Given the description of an element on the screen output the (x, y) to click on. 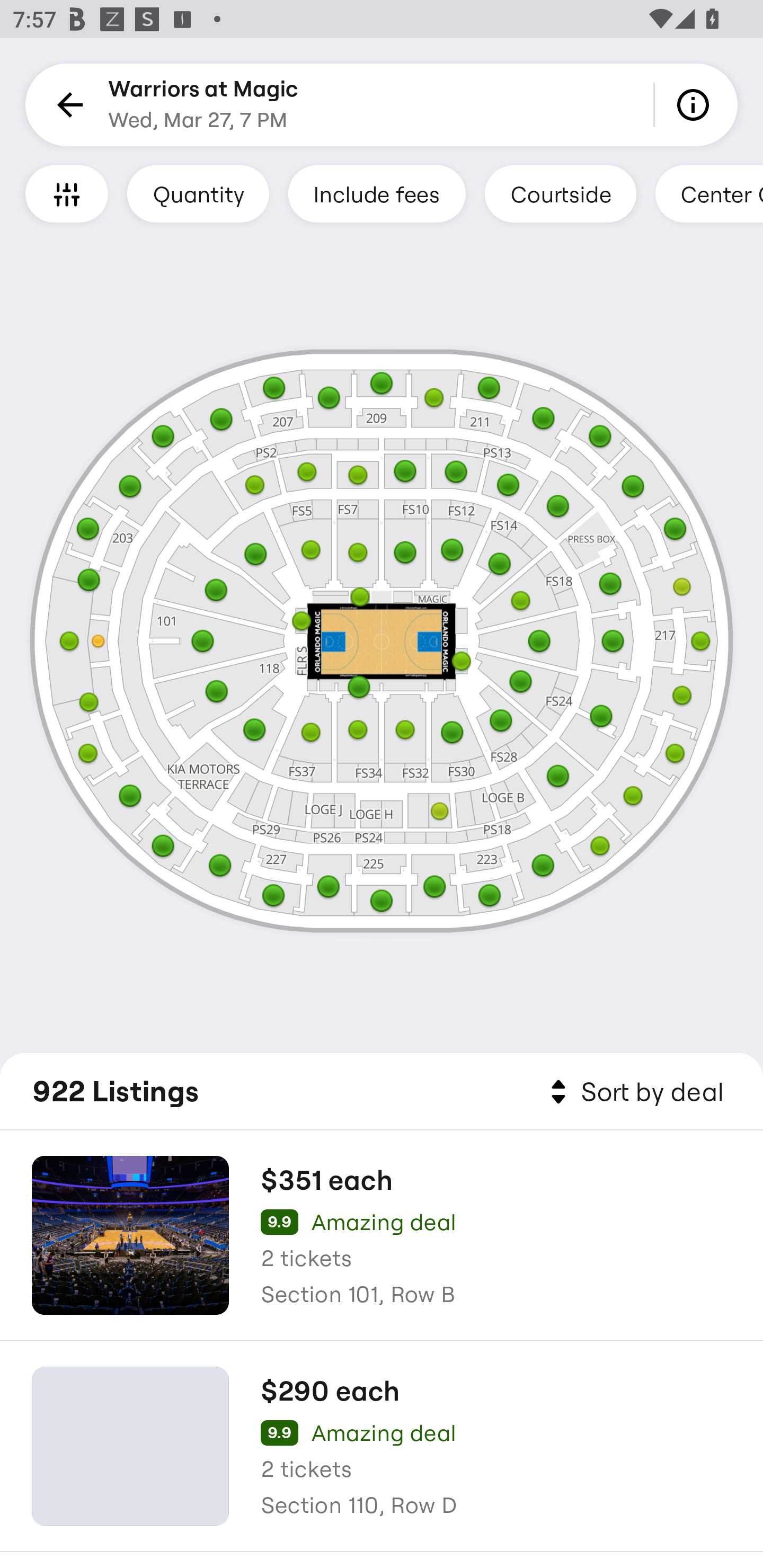
Back (66, 104)
Warriors at Magic Wed, Mar 27, 7 PM (203, 104)
Info (695, 104)
Filters and Accessible Seating (66, 193)
Quantity (198, 193)
Include fees (376, 193)
Courtside (560, 193)
Sort by deal (633, 1091)
